Given the description of an element on the screen output the (x, y) to click on. 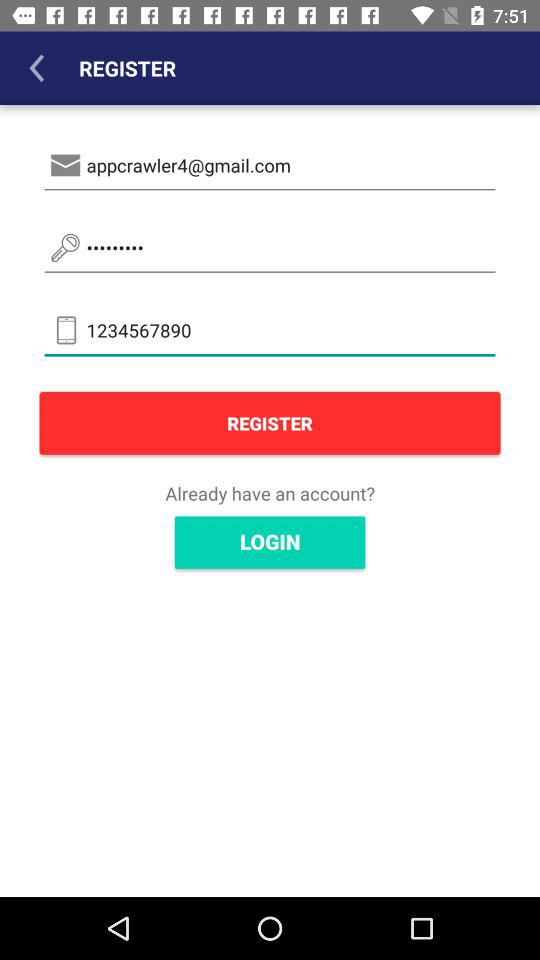
select the item above the register item (269, 330)
